Given the description of an element on the screen output the (x, y) to click on. 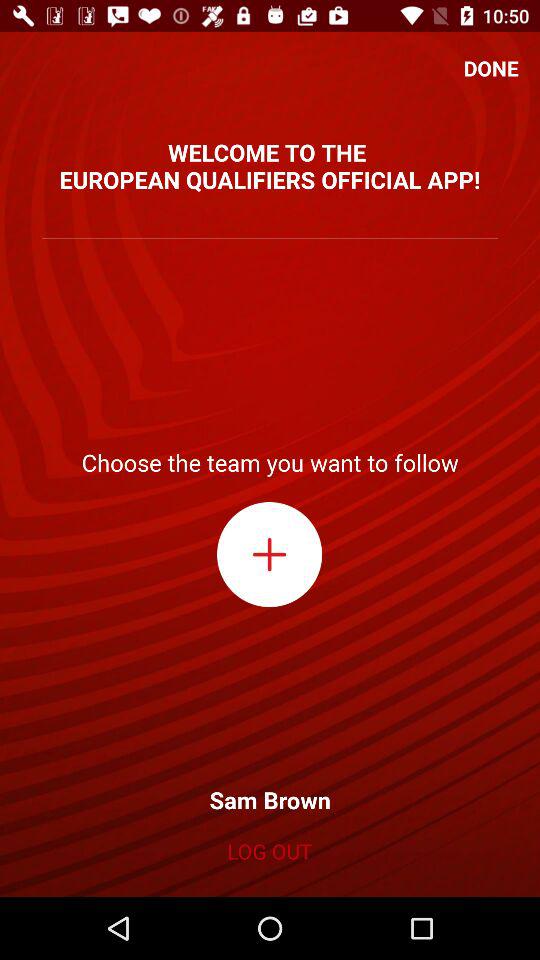
choose the icon above the welcome to the item (491, 68)
